Given the description of an element on the screen output the (x, y) to click on. 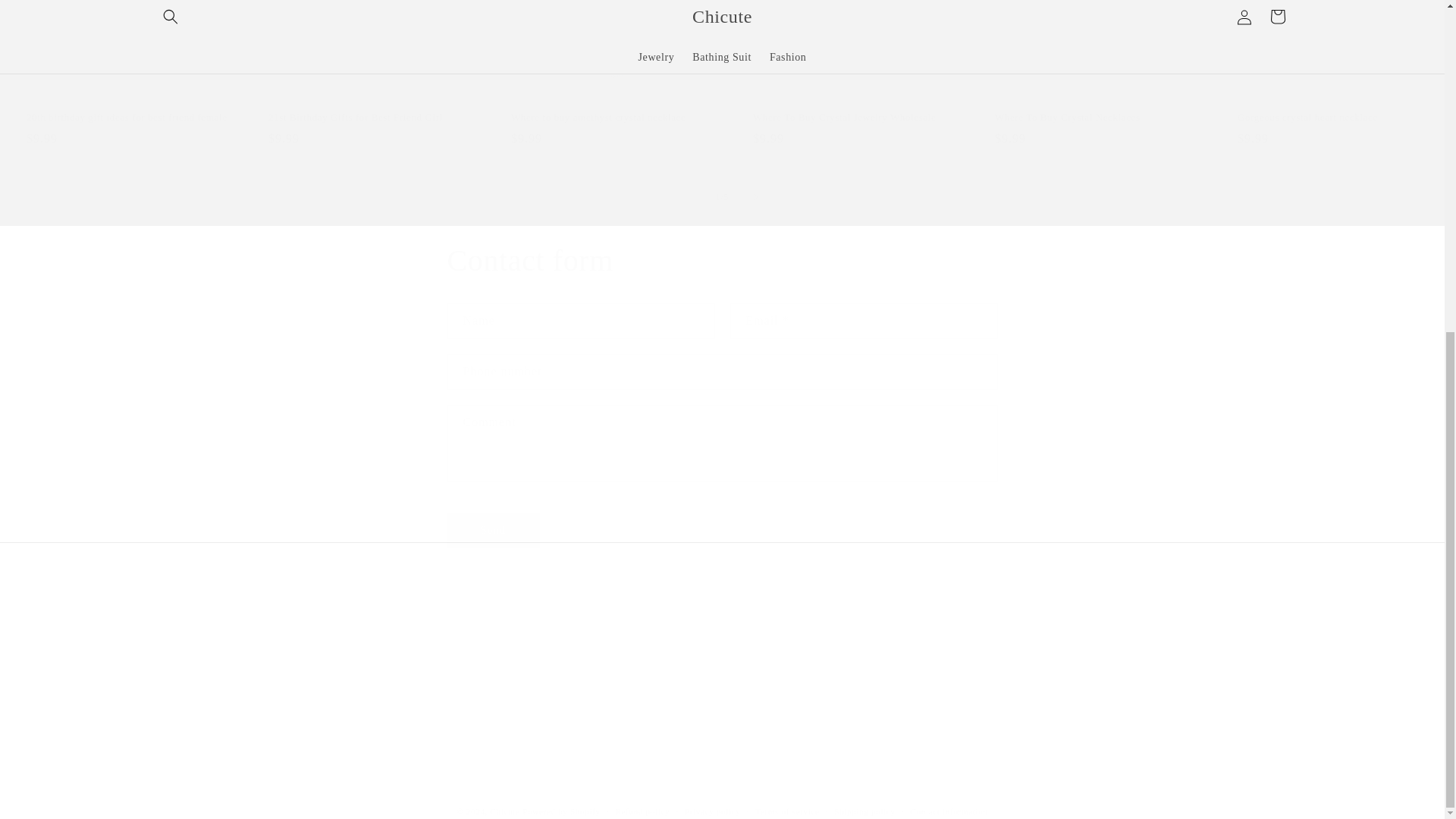
21st Birthday Gifts for Best Friend Girl (434, 664)
Pinterest (368, 118)
Where to buy amethyst crystal necklace (1008, 664)
Where To Buy Crystal Jewelry Wholesale (612, 118)
Contact form (853, 118)
20th birthday gift ideas for best friend female (721, 260)
Gorgeous crystal heart necklace (127, 118)
Where To Buy Crystal Necklaces (1338, 118)
